Given the description of an element on the screen output the (x, y) to click on. 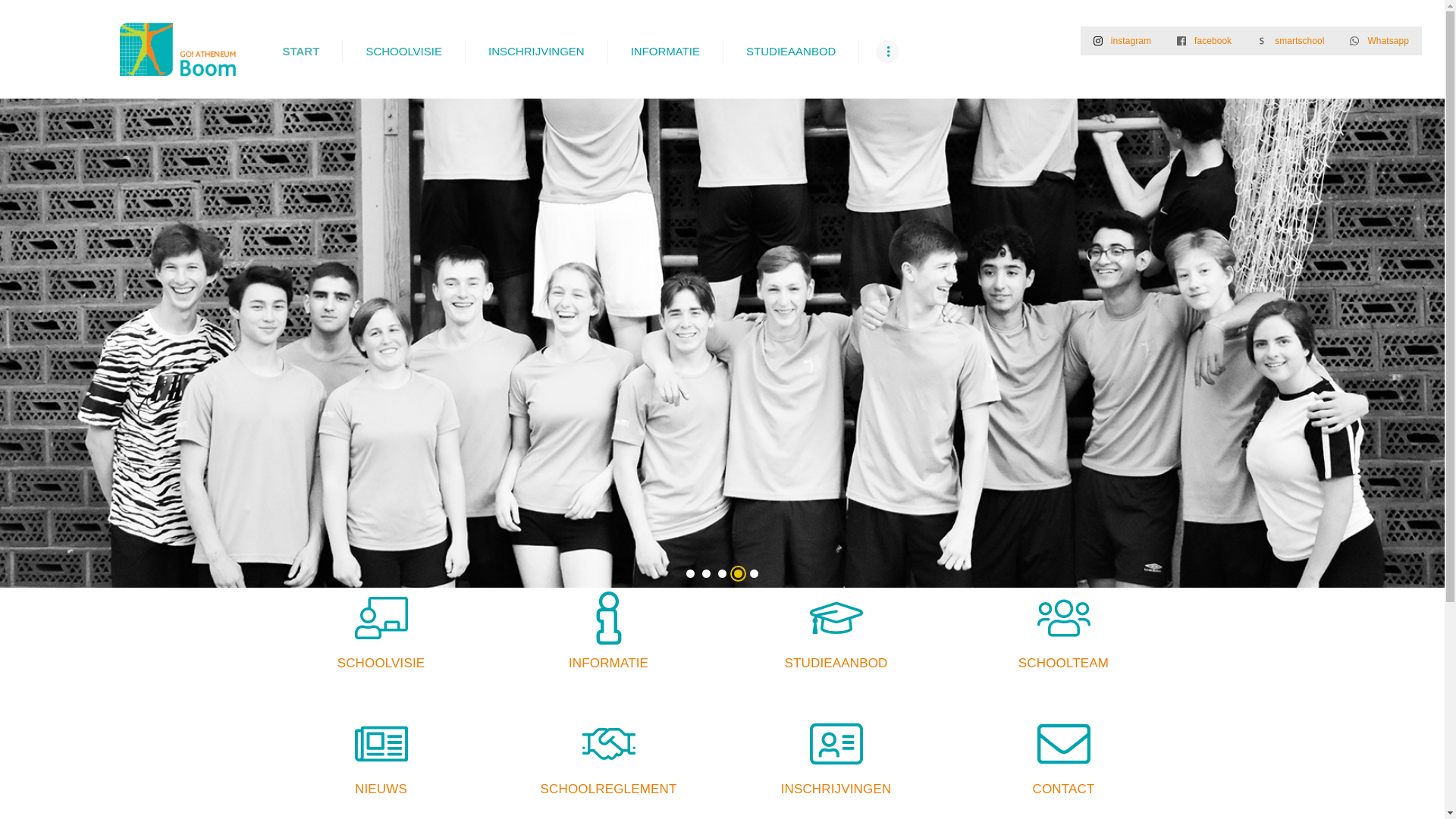
START Element type: text (300, 50)
INFORMATIE Element type: text (664, 50)
smartschool Element type: text (1290, 40)
facebook Element type: text (1204, 40)
INSCHRIJVINGEN Element type: text (535, 50)
SCHOOLVISIE Element type: text (403, 50)
STUDIEAANBOD Element type: text (790, 50)
Whatsapp Element type: text (1378, 40)
instagram Element type: text (1122, 40)
